Given the description of an element on the screen output the (x, y) to click on. 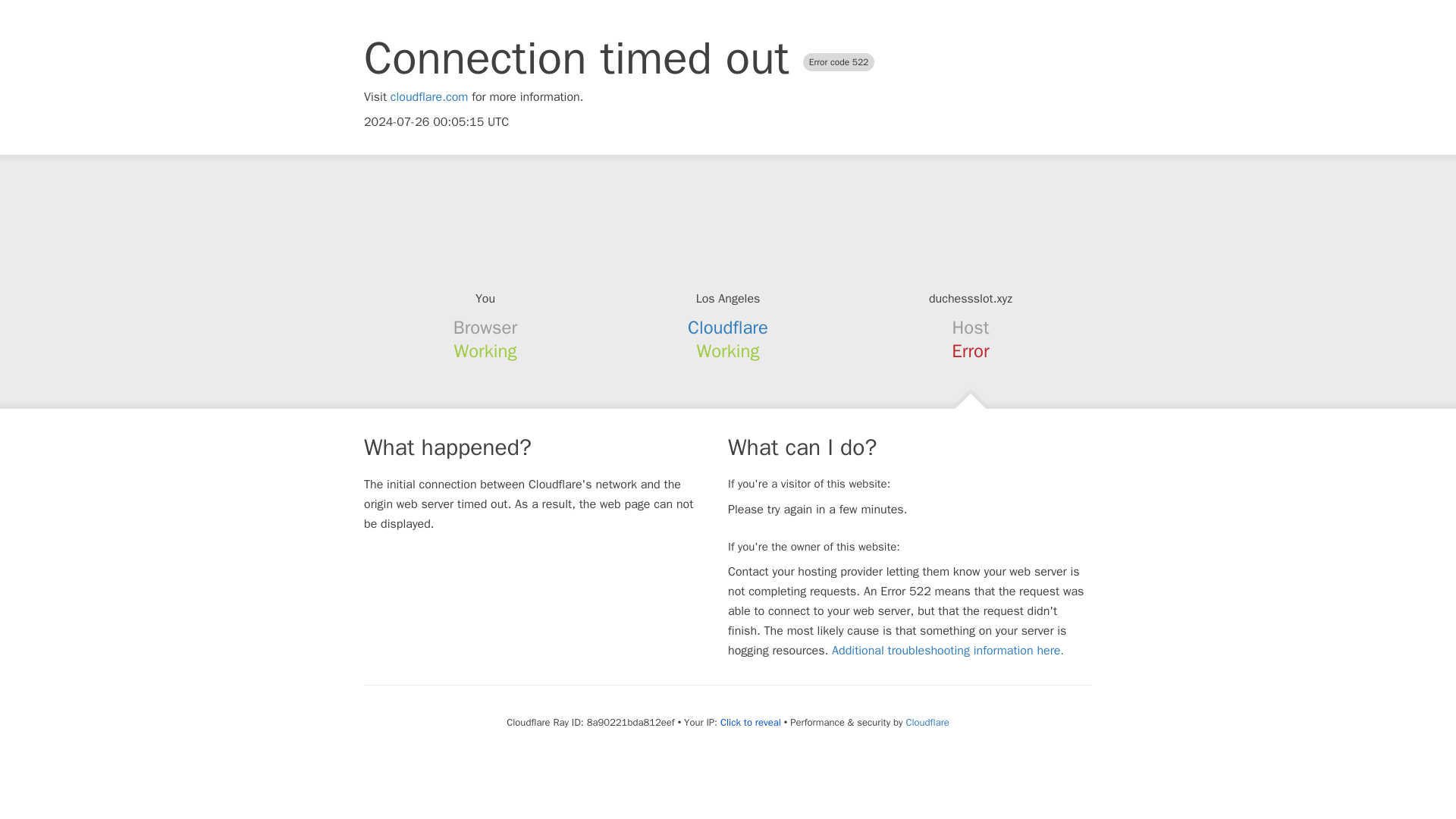
cloudflare.com (429, 96)
Cloudflare (727, 327)
Additional troubleshooting information here. (947, 650)
Cloudflare (927, 721)
Click to reveal (750, 722)
